Given the description of an element on the screen output the (x, y) to click on. 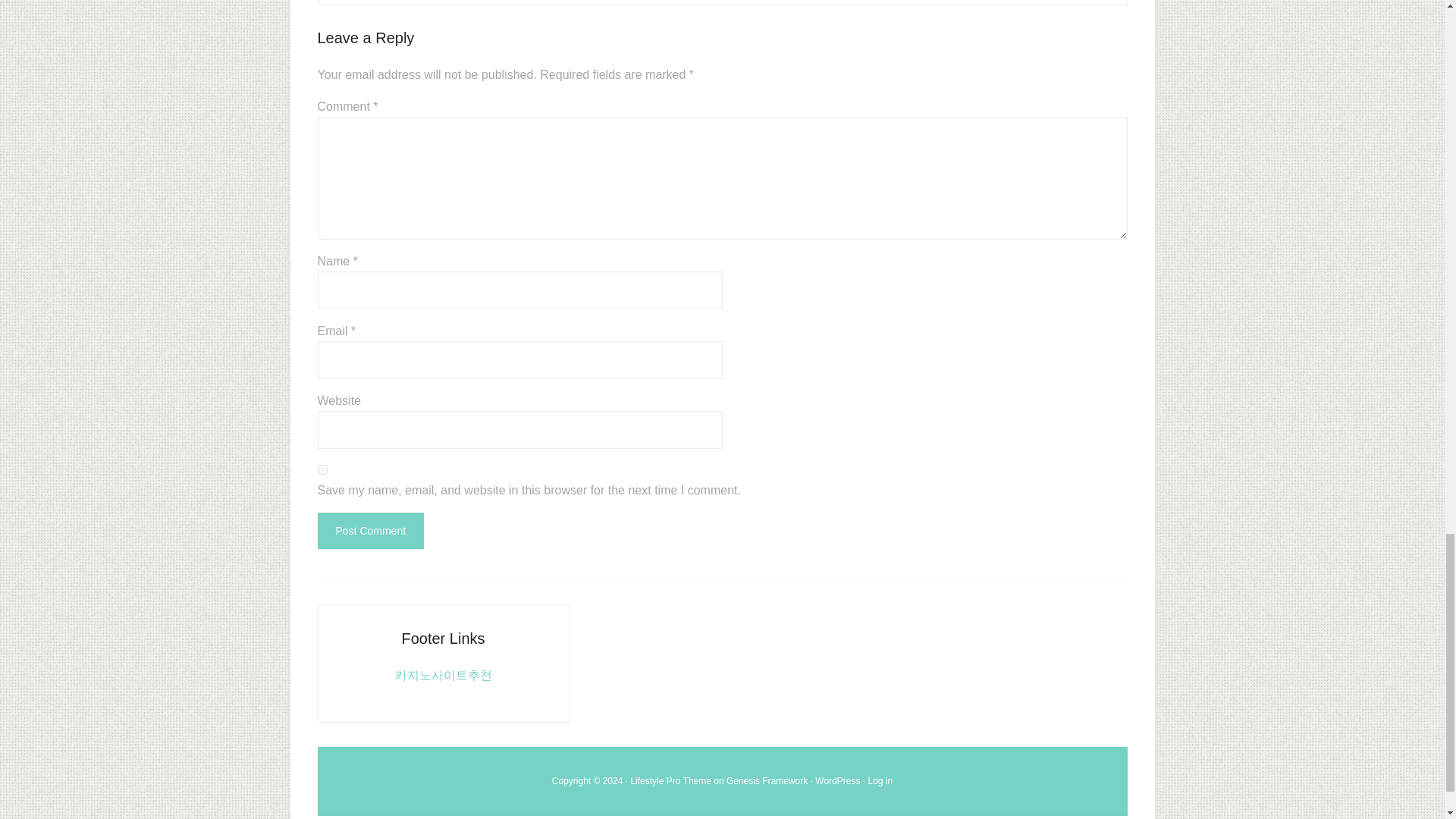
yes (321, 470)
Lifestyle Pro Theme (670, 780)
WordPress (837, 780)
Genesis Framework (767, 780)
Post Comment (370, 530)
Post Comment (370, 530)
Log in (879, 780)
